Given the description of an element on the screen output the (x, y) to click on. 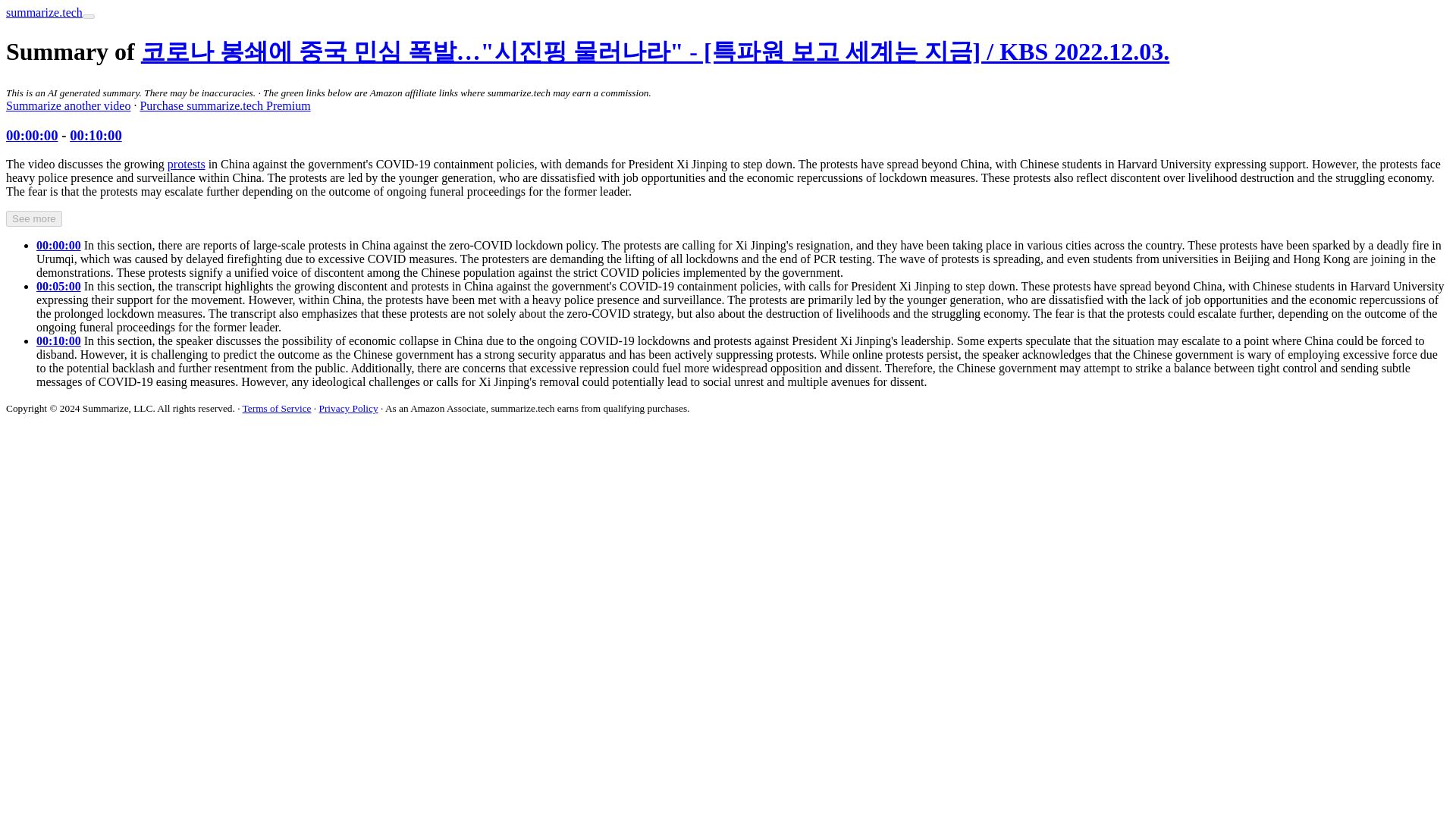
summarize.tech (43, 11)
00:00:00 (31, 135)
00:00:00 (58, 245)
protests (186, 164)
00:10:00 (95, 135)
Purchase summarize.tech Premium (224, 105)
00:10:00 (58, 340)
00:05:00 (58, 286)
Summarize another video (68, 105)
See more (33, 218)
